Given the description of an element on the screen output the (x, y) to click on. 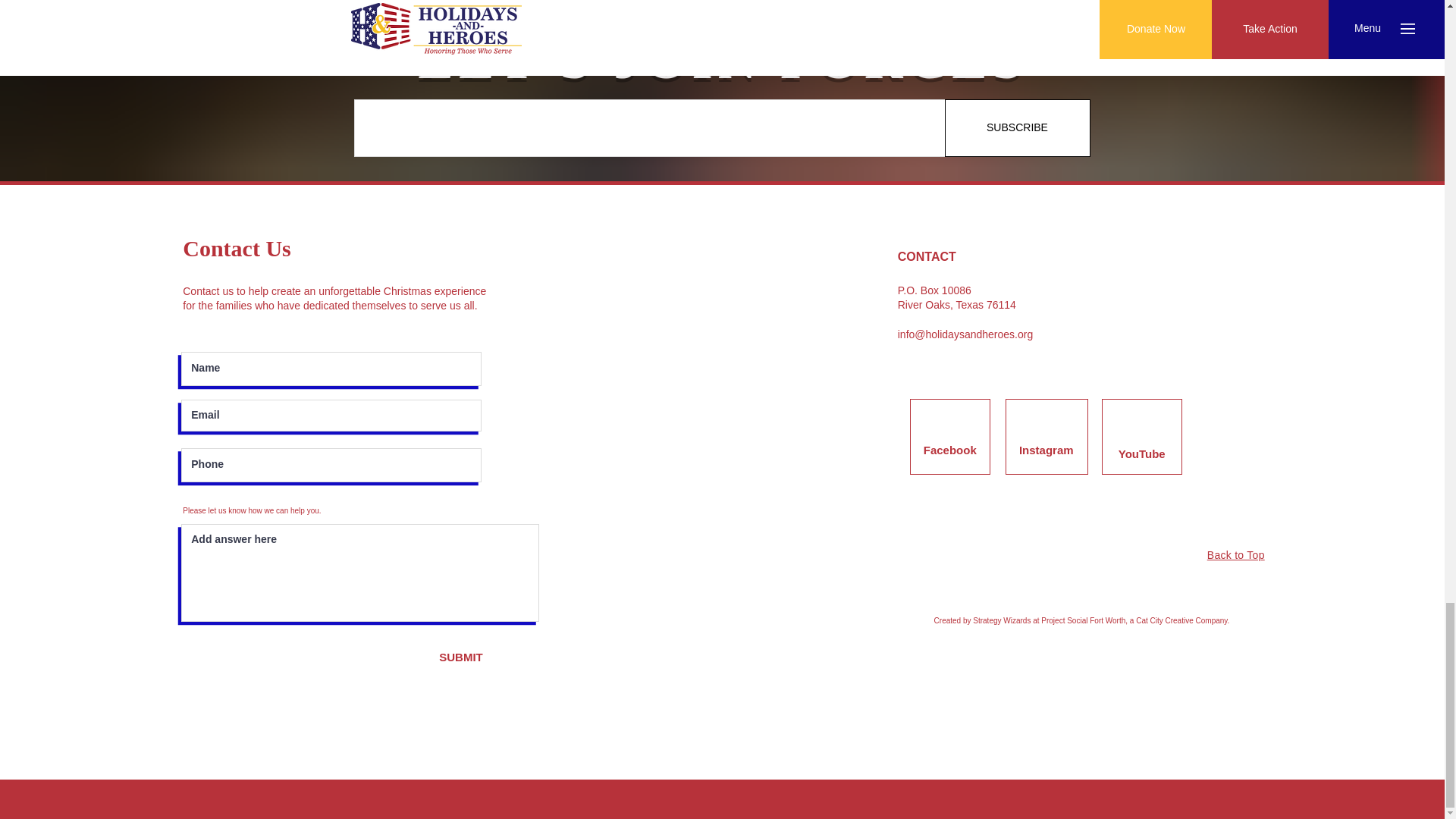
SUBMIT (461, 656)
Instagram (1045, 450)
Back to Top (1236, 554)
YouTube (1141, 453)
Facebook (949, 450)
SUBSCRIBE (1017, 128)
